Given the description of an element on the screen output the (x, y) to click on. 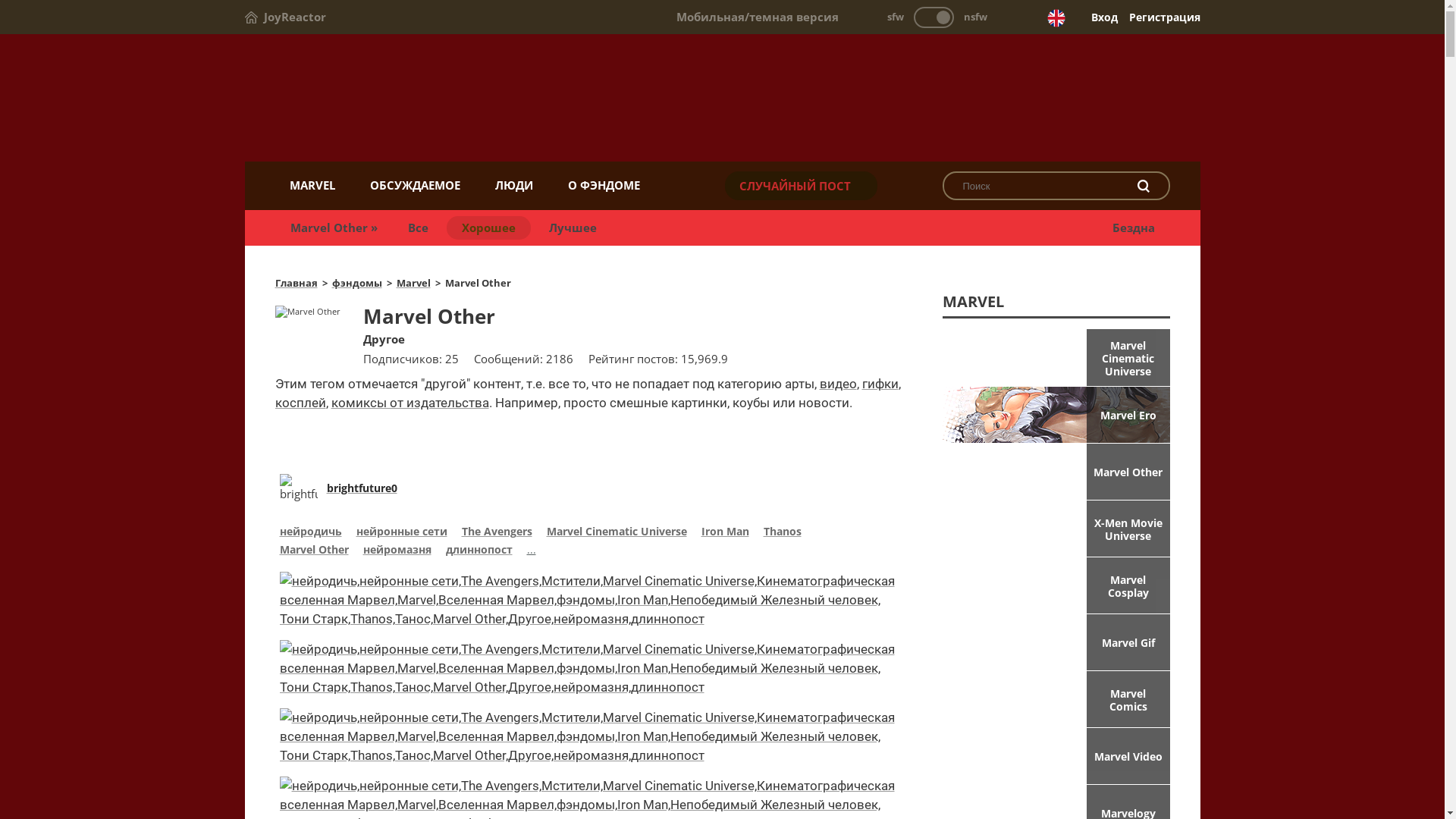
Marvel Ero Element type: text (1055, 414)
Marvel Cosplay Element type: text (1055, 585)
Marvel Other Element type: text (1055, 471)
The Avengers Element type: text (496, 533)
Marvel Element type: text (412, 282)
Thanos Element type: text (781, 533)
brightfuture0 Element type: text (361, 487)
Marvel Comics Element type: text (1055, 699)
Marvel Cinematic Universe Element type: text (616, 533)
Marvel Element type: text (721, 98)
MARVEL Element type: text (311, 184)
JoyReactor Element type: text (284, 17)
Marvel Other Element type: text (313, 551)
Marvel Video Element type: text (1055, 756)
Iron Man Element type: text (724, 533)
Marvel Gif Element type: text (1055, 642)
X-Men Movie Universe Element type: text (1055, 528)
English version Element type: hover (1055, 18)
Marvel Cinematic Universe Element type: text (1055, 357)
